Given the description of an element on the screen output the (x, y) to click on. 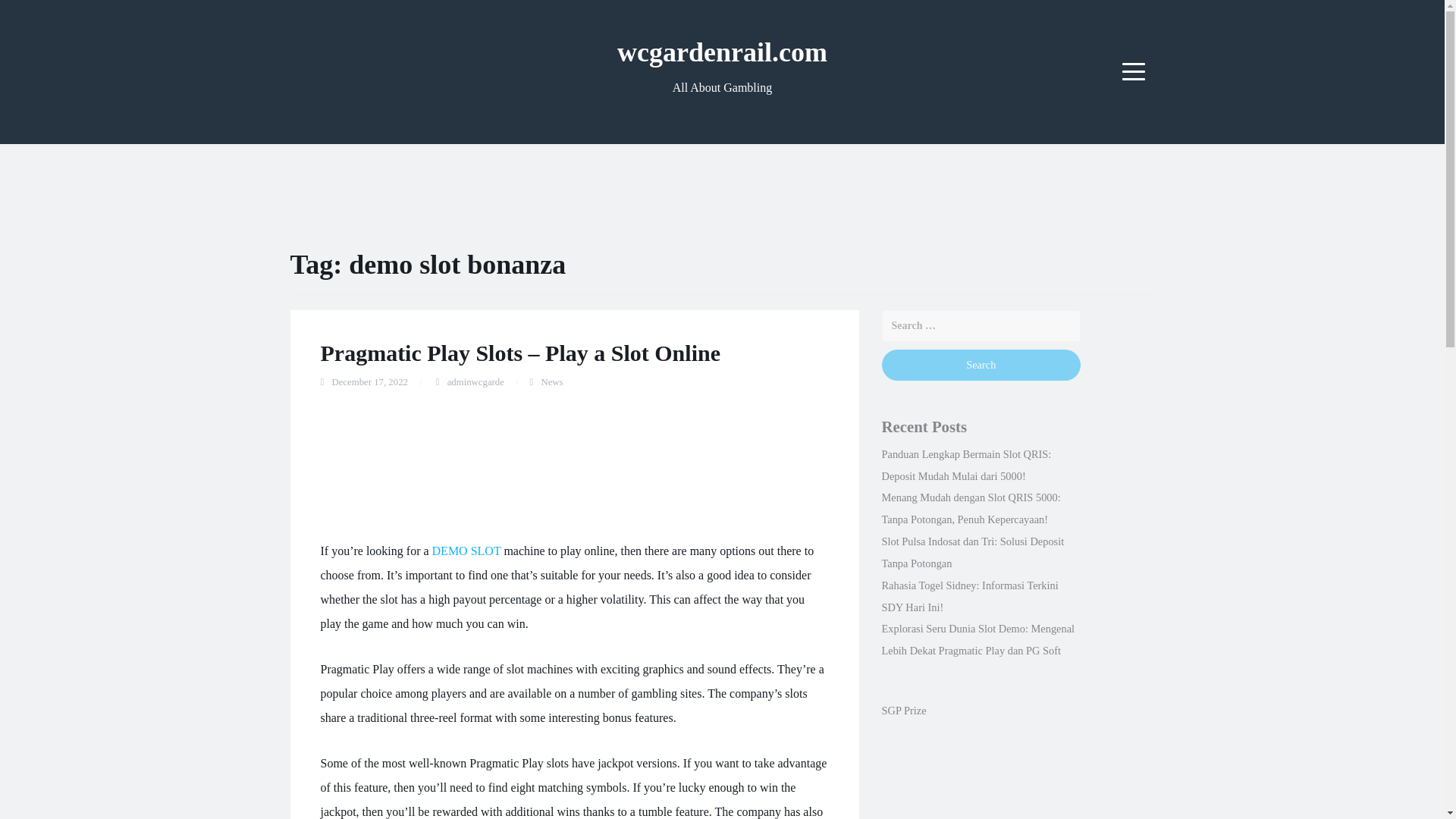
Search (980, 364)
News (551, 381)
DEMO SLOT (466, 550)
wcgardenrail.com (722, 51)
adminwcgarde (474, 381)
Menu (1133, 71)
Search (980, 364)
December 17, 2022 (369, 381)
Search (980, 364)
